Given the description of an element on the screen output the (x, y) to click on. 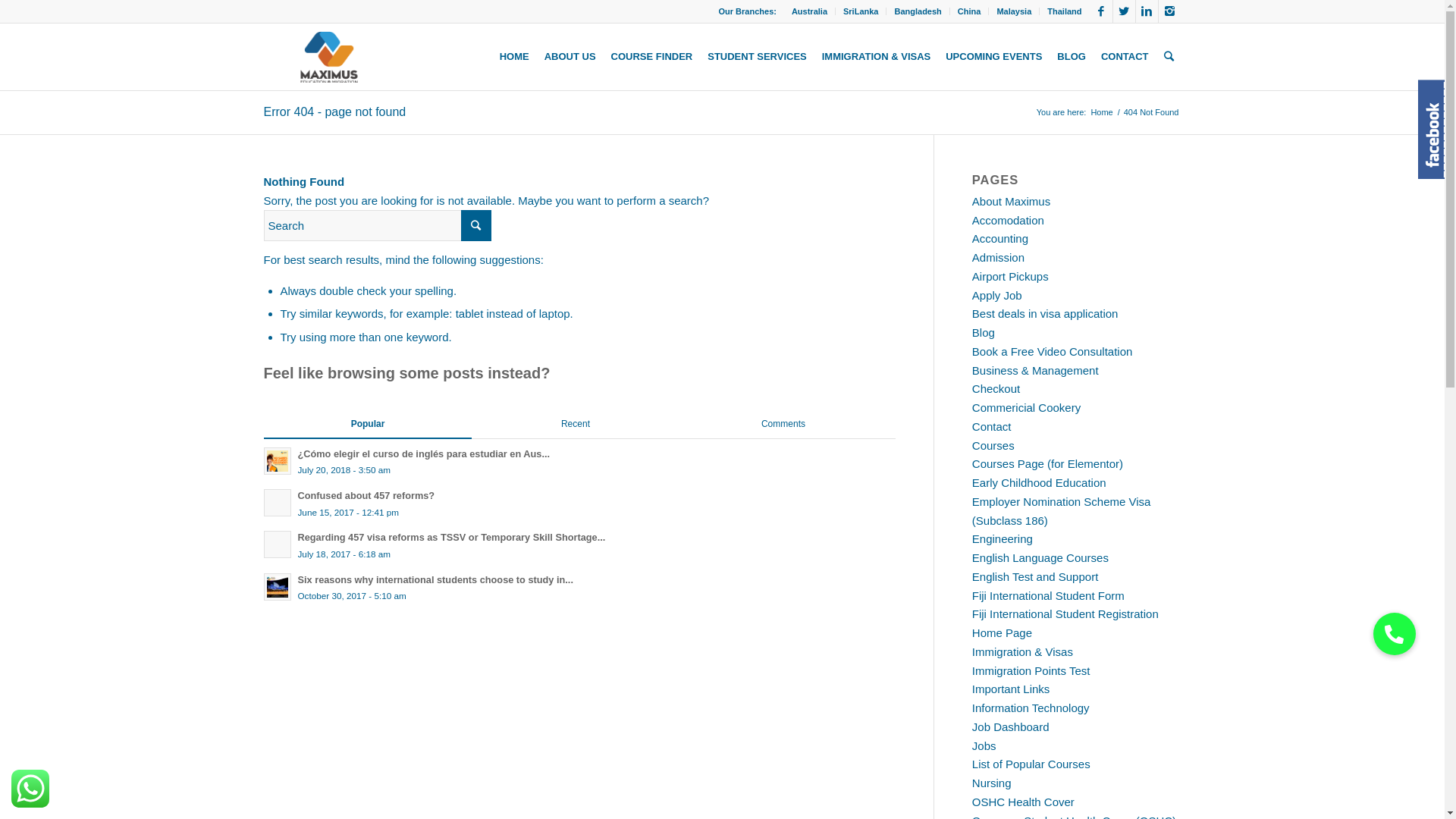
Linkedin Element type: hover (1146, 11)
CONTACT Element type: text (1124, 56)
Book a Free Video Consultation Element type: text (1052, 351)
Early Childhood Education Element type: text (1039, 482)
Fiji International Student Registration Element type: text (1065, 613)
UPCOMING EVENTS Element type: text (993, 56)
Engineering Element type: text (1002, 538)
Malaysia Element type: text (1013, 11)
English Language Courses Element type: text (1040, 557)
BLOG Element type: text (1071, 56)
Checkout Element type: text (995, 388)
Blog Element type: text (983, 332)
Immigration Points Test Element type: text (1031, 670)
Important Links Element type: text (1011, 688)
Confused about 457 reforms?
June 15, 2017 - 12:41 pm Element type: text (579, 503)
IMMIGRATION & VISAS Element type: text (876, 56)
ABOUT US Element type: text (569, 56)
Accounting Element type: text (1000, 238)
English Test and Support Element type: text (1035, 576)
Courses Page (for Elementor) Element type: text (1047, 463)
Business & Management Element type: text (1035, 370)
Jobs Element type: text (984, 745)
Employer Nomination Scheme Visa (Subclass 186) Element type: text (1061, 511)
Information Technology Element type: text (1030, 707)
Home Page Element type: text (1002, 632)
Thailand Element type: text (1064, 11)
Accomodation Element type: text (1008, 219)
WhatsApp Element type: hover (30, 788)
Commericial Cookery Element type: text (1026, 407)
Home Element type: text (1101, 112)
Courses Element type: text (993, 445)
Admission Element type: text (998, 257)
Apply Job Element type: text (997, 294)
SriLanka Element type: text (860, 11)
List of Popular Courses Element type: text (1031, 763)
Bangladesh Element type: text (917, 11)
Instagram Element type: hover (1169, 11)
About Maximus Element type: text (1011, 200)
Contact Element type: text (991, 426)
COURSE FINDER Element type: text (651, 56)
Twitter Element type: hover (1124, 11)
OSHC Health Cover Element type: text (1023, 801)
Nursing Element type: text (991, 782)
China Element type: text (969, 11)
Fiji International Student Form Element type: text (1048, 595)
HOME Element type: text (514, 56)
Australia Element type: text (809, 11)
Best deals in visa application Element type: text (1045, 313)
Facebook Element type: hover (1101, 11)
Immigration & Visas Element type: text (1022, 651)
Airport Pickups Element type: text (1010, 275)
Job Dashboard Element type: text (1010, 726)
STUDENT SERVICES Element type: text (756, 56)
